Given the description of an element on the screen output the (x, y) to click on. 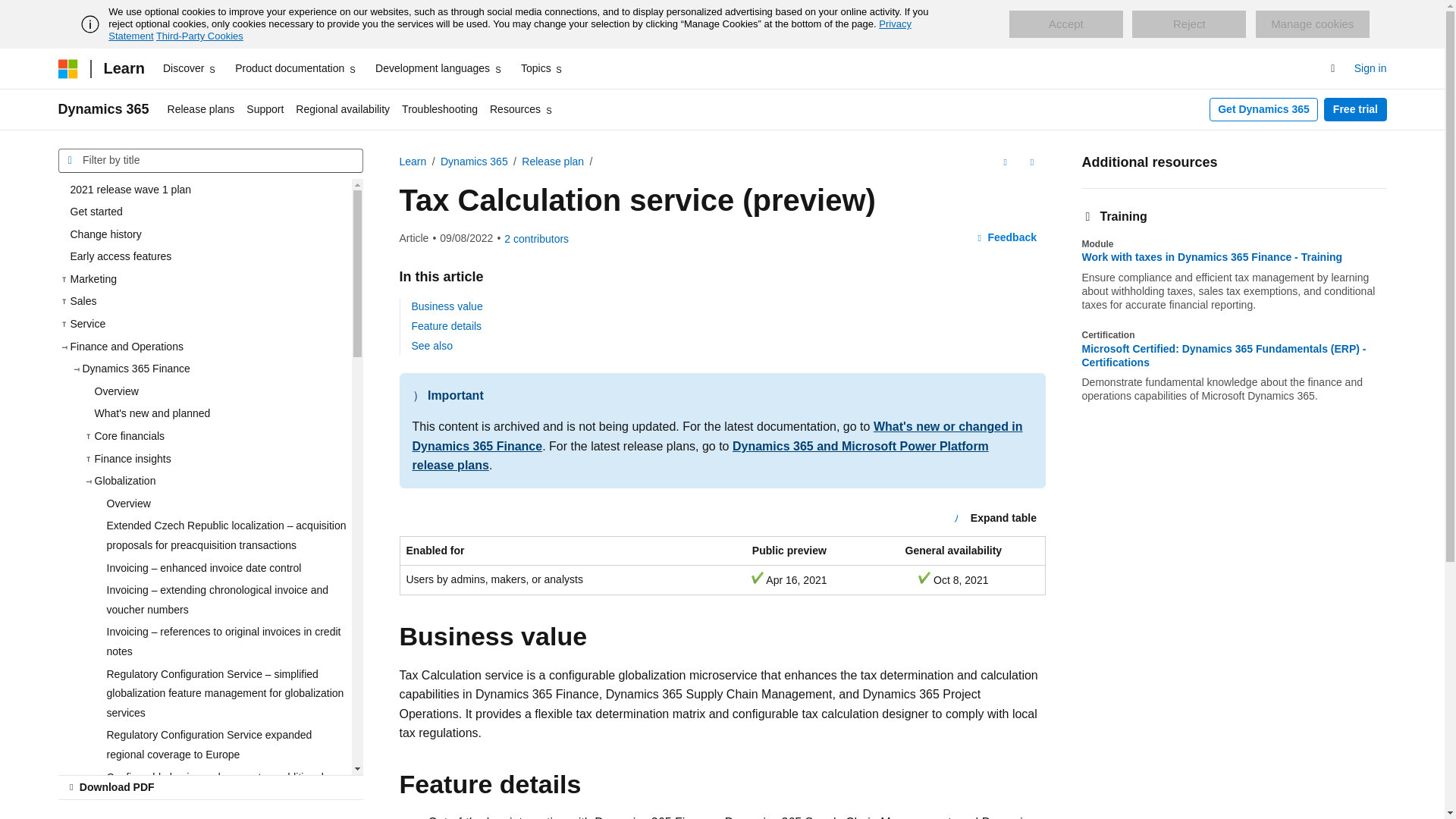
More actions (1031, 161)
2021 release wave 1 plan (204, 190)
Release plans (201, 109)
Support (264, 109)
Learn (123, 68)
Topics (542, 68)
Sign in (1370, 68)
Dynamics 365 (103, 109)
Discover (189, 68)
View all contributors (536, 238)
